Given the description of an element on the screen output the (x, y) to click on. 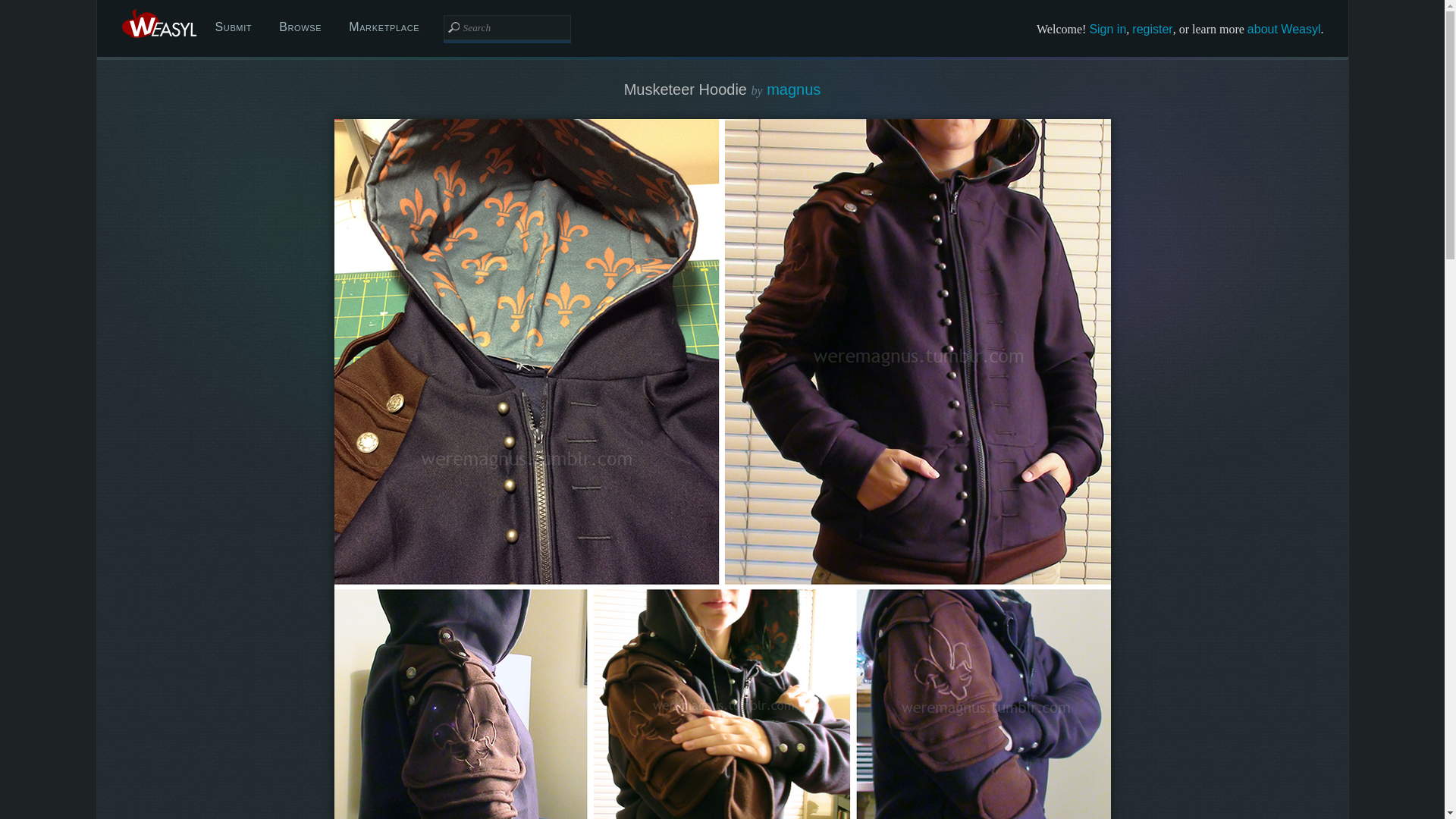
Marketplace (383, 27)
Sign in (1107, 29)
magnus (794, 89)
Submit (233, 27)
Search Weasyl (507, 27)
register (1152, 29)
about Weasyl (1283, 29)
Browse (299, 27)
